Given the description of an element on the screen output the (x, y) to click on. 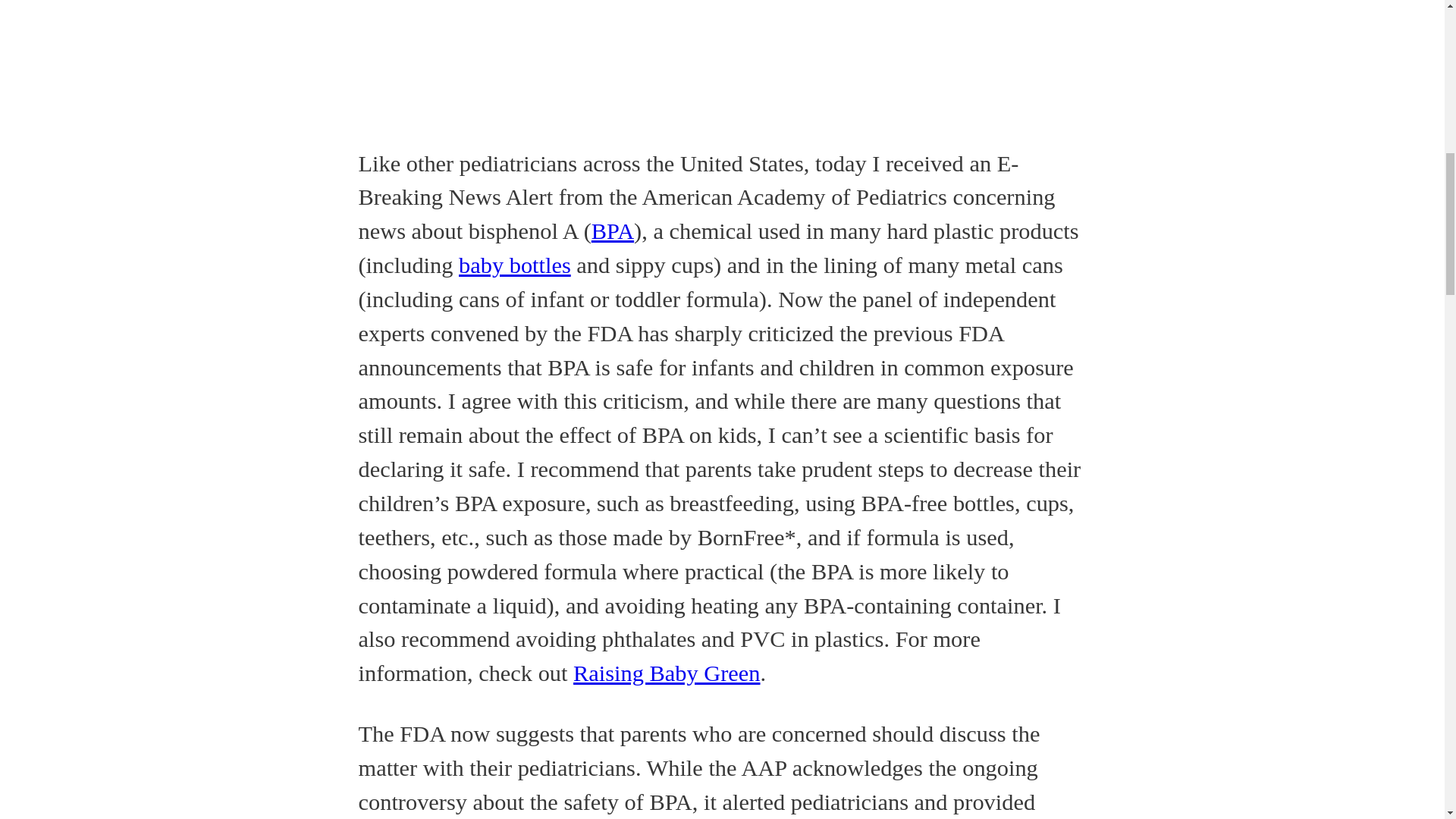
Raising Baby Green (666, 673)
BPA (612, 231)
baby bottles (514, 265)
